Given the description of an element on the screen output the (x, y) to click on. 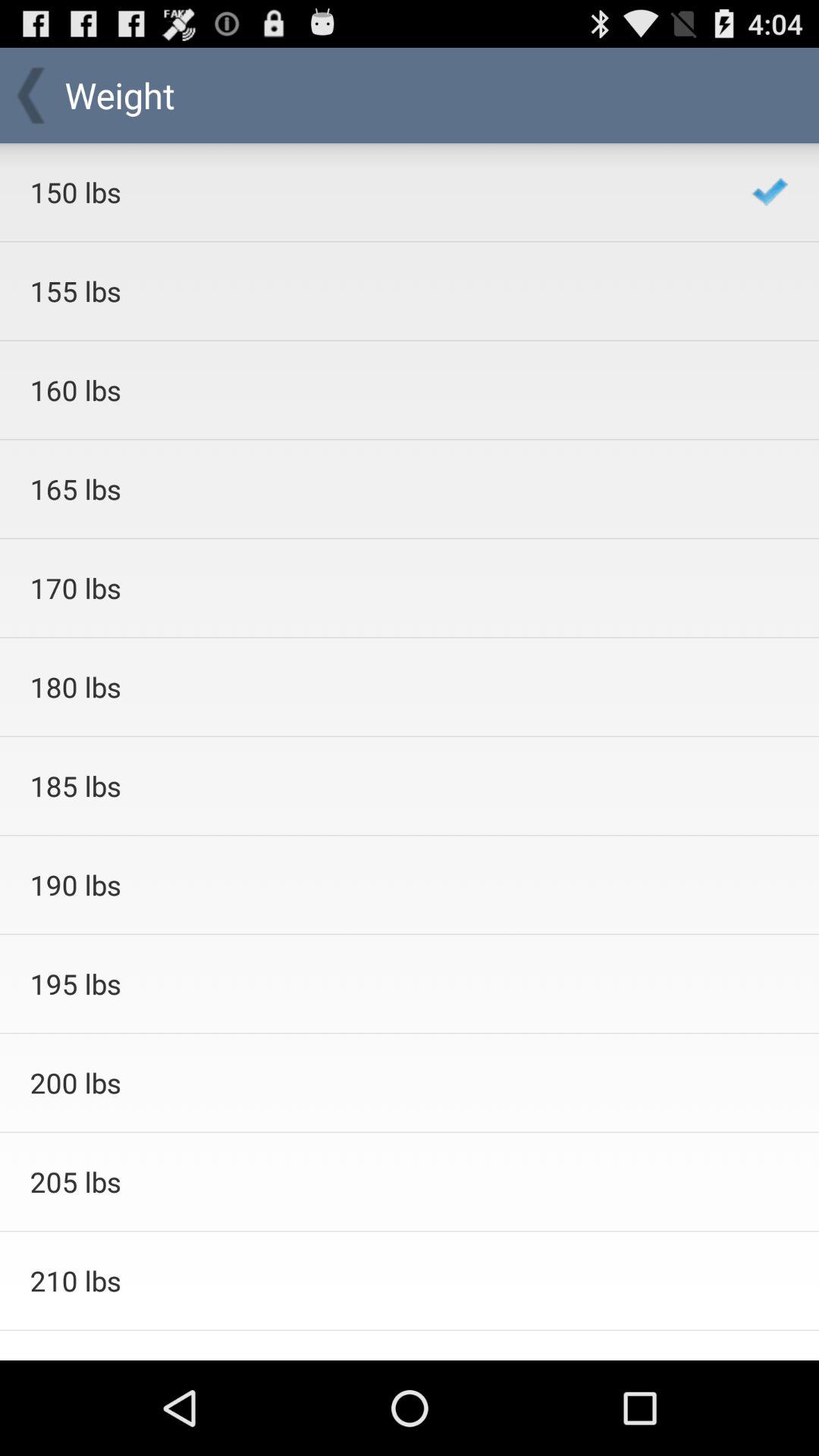
select item to the right of 150 lbs app (769, 191)
